Given the description of an element on the screen output the (x, y) to click on. 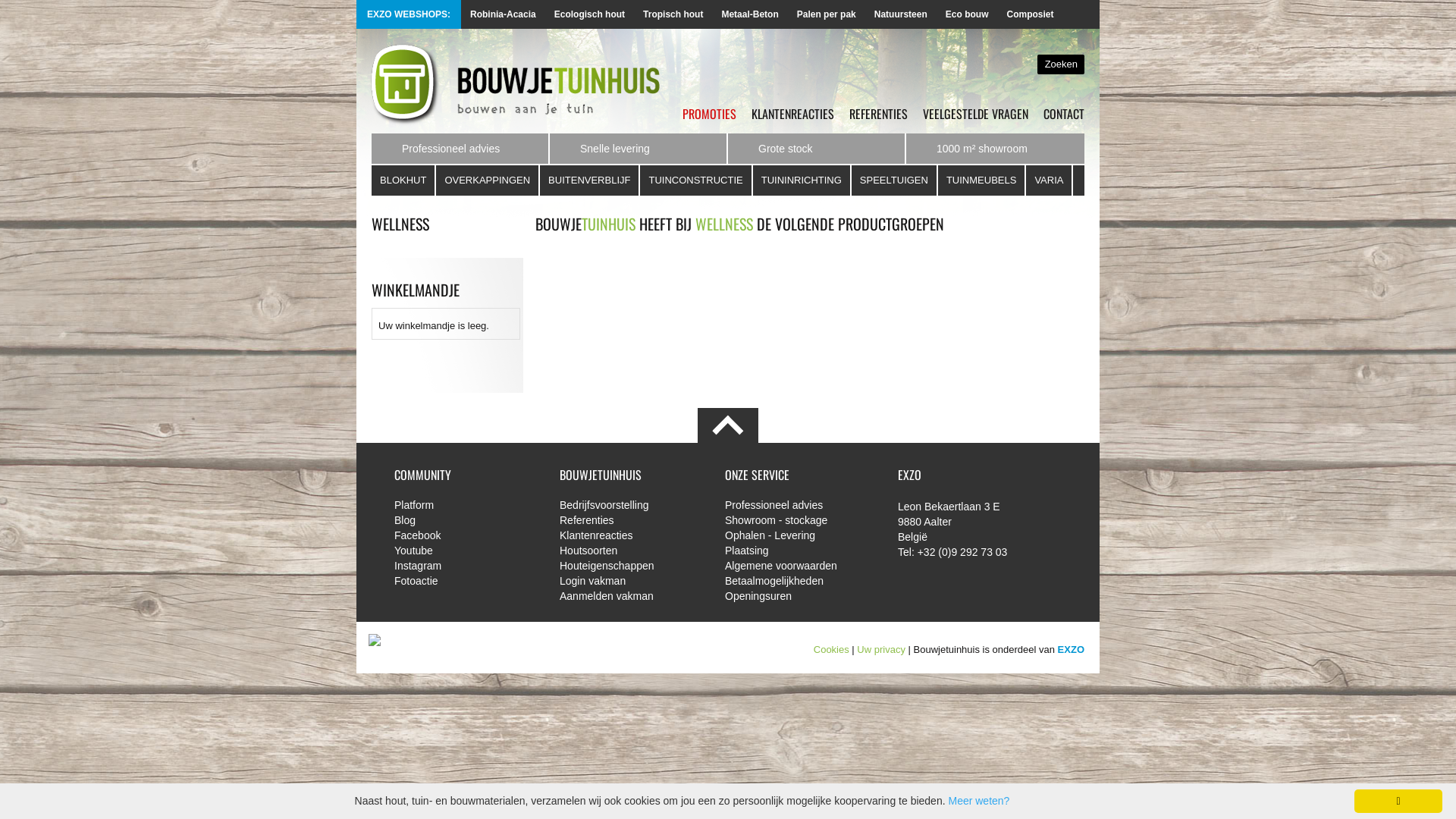
Showroom - stockage Element type: text (795, 519)
Composiet Element type: text (1029, 14)
Ophalen - Levering Element type: text (795, 534)
Fotoactie Element type: text (465, 580)
Metaal-Beton Element type: text (749, 14)
Platform Element type: text (465, 504)
VARIA Element type: text (1049, 180)
EXZO WEBSHOPS: Element type: text (1069, 14)
Eco bouw Element type: text (966, 14)
VEELGESTELDE VRAGEN Element type: text (975, 113)
TUINMEUBELS Element type: text (982, 180)
OVERKAPPINGEN Element type: text (487, 180)
BLOKHUT Element type: text (403, 180)
Blog Element type: text (465, 519)
Algemene voorwaarden Element type: text (795, 565)
Meer weten? Element type: text (978, 800)
Youtube Element type: text (465, 550)
Openingsuren Element type: text (795, 595)
TUININRICHTING Element type: text (802, 180)
Plaatsing Element type: text (795, 550)
REFERENTIES Element type: text (878, 113)
Cookies Element type: text (831, 649)
CONTACT Element type: text (1063, 113)
Natuursteen Element type: text (900, 14)
Robinia-Acacia Element type: text (503, 14)
Facebook Element type: text (465, 534)
Ecologisch hout Element type: text (589, 14)
SPEELTUIGEN Element type: text (894, 180)
Referenties Element type: text (630, 519)
Bedrijfsvoorstelling Element type: text (630, 504)
Aanmelden vakman Element type: text (630, 595)
BUITENVERBLIJF Element type: text (589, 180)
Betaalmogelijkheden Element type: text (795, 580)
Palen per pak Element type: text (826, 14)
Login vakman Element type: text (630, 580)
PROMOTIES Element type: text (709, 113)
Klantenreacties Element type: text (630, 534)
Tropisch hout Element type: text (672, 14)
Houteigenschappen Element type: text (630, 565)
Instagram Element type: text (465, 565)
Zoeken Element type: text (1060, 64)
Uw privacy Element type: text (880, 649)
KLANTENREACTIES Element type: text (792, 113)
Professioneel advies Element type: text (795, 504)
TUINCONSTRUCTIE Element type: text (696, 180)
EXZO Element type: text (1070, 649)
Houtsoorten Element type: text (630, 550)
